Given the description of an element on the screen output the (x, y) to click on. 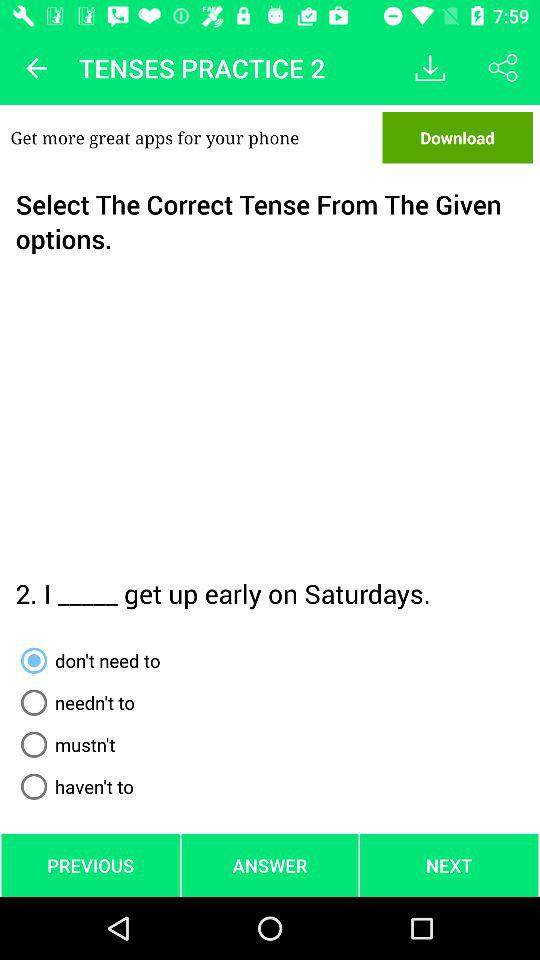
go back the previoyus page (36, 68)
